Given the description of an element on the screen output the (x, y) to click on. 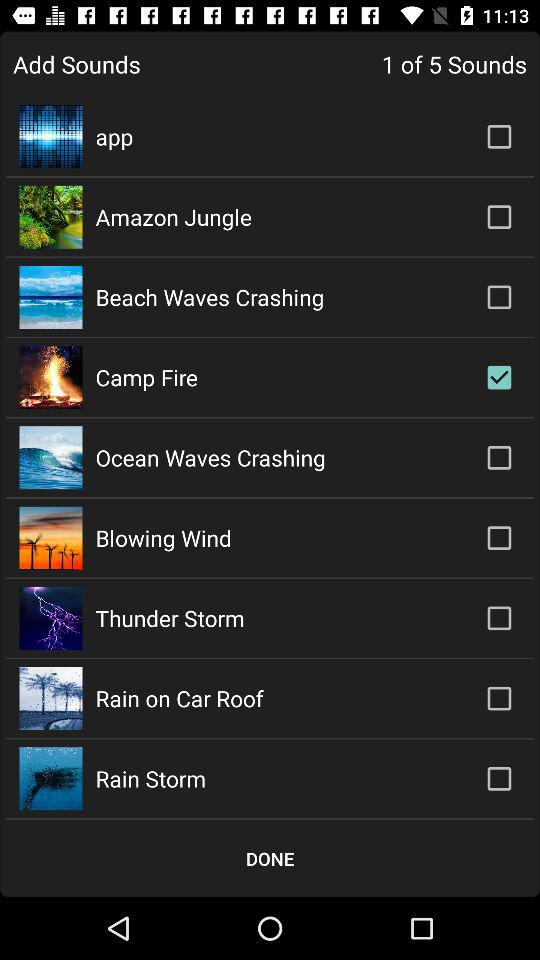
select the second image in the row (51, 217)
select the icon which is to the left of app (51, 136)
select the image on left side of rain storm text (51, 778)
